Given the description of an element on the screen output the (x, y) to click on. 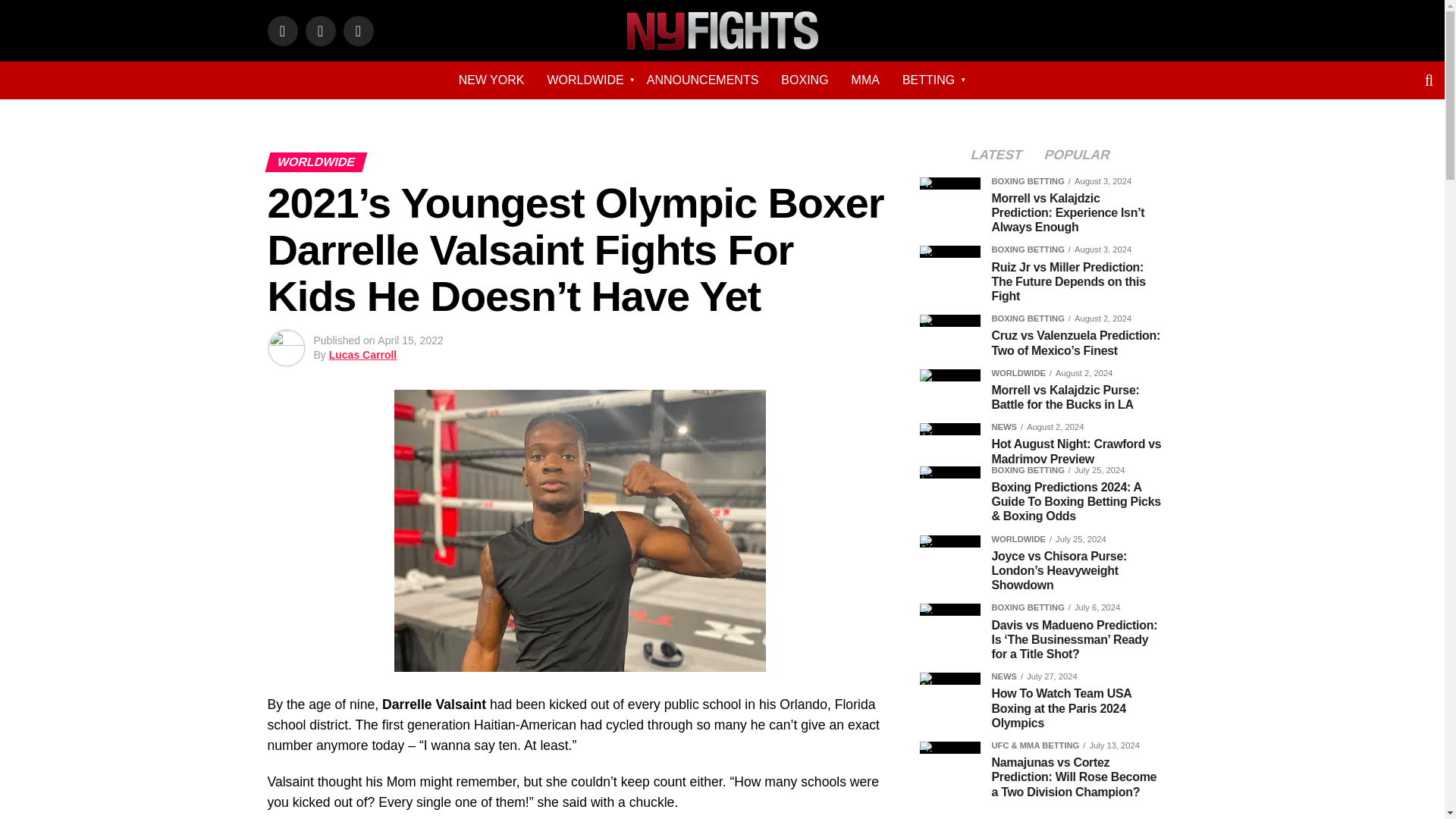
MMA (865, 80)
WORLDWIDE (584, 80)
BETTING (928, 80)
NEW YORK (490, 80)
ANNOUNCEMENTS (702, 80)
BOXING (805, 80)
